Given the description of an element on the screen output the (x, y) to click on. 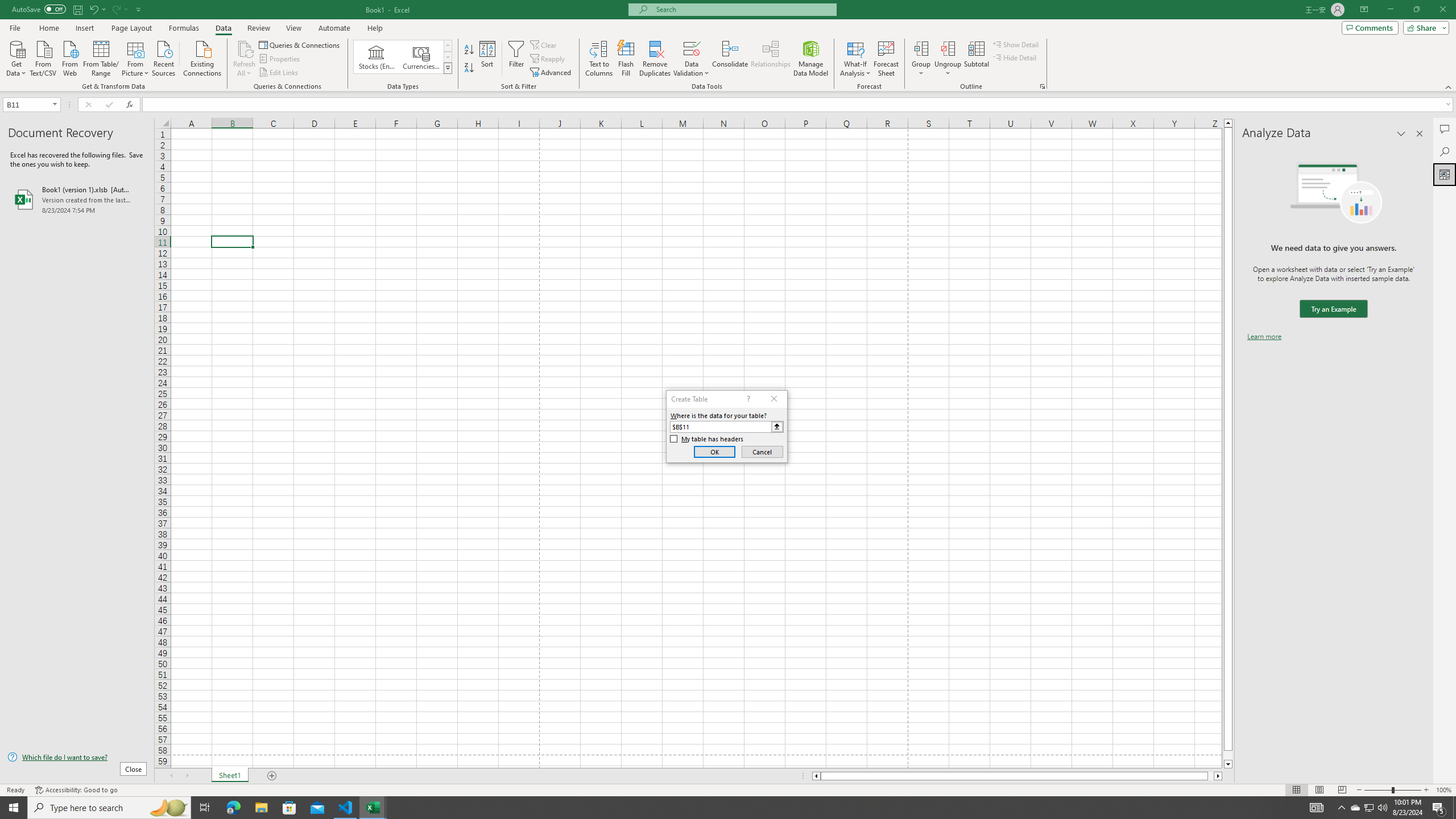
Stocks (English) (375, 56)
Class: MsoCommandBar (728, 45)
Consolidate... (729, 58)
Filter (515, 58)
Hide Detail (1014, 56)
Sort A to Z (469, 49)
Edit Links (279, 72)
